Given the description of an element on the screen output the (x, y) to click on. 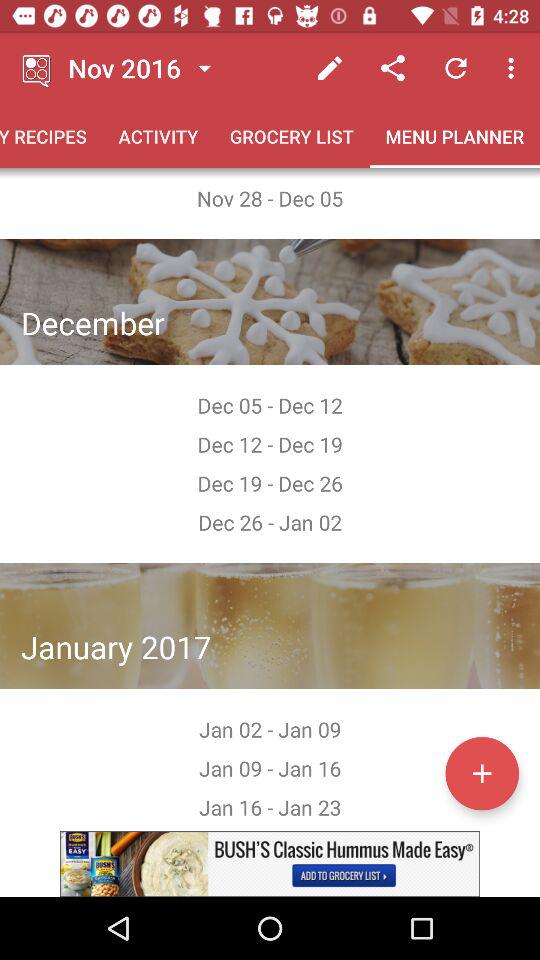
add option (482, 773)
